Given the description of an element on the screen output the (x, y) to click on. 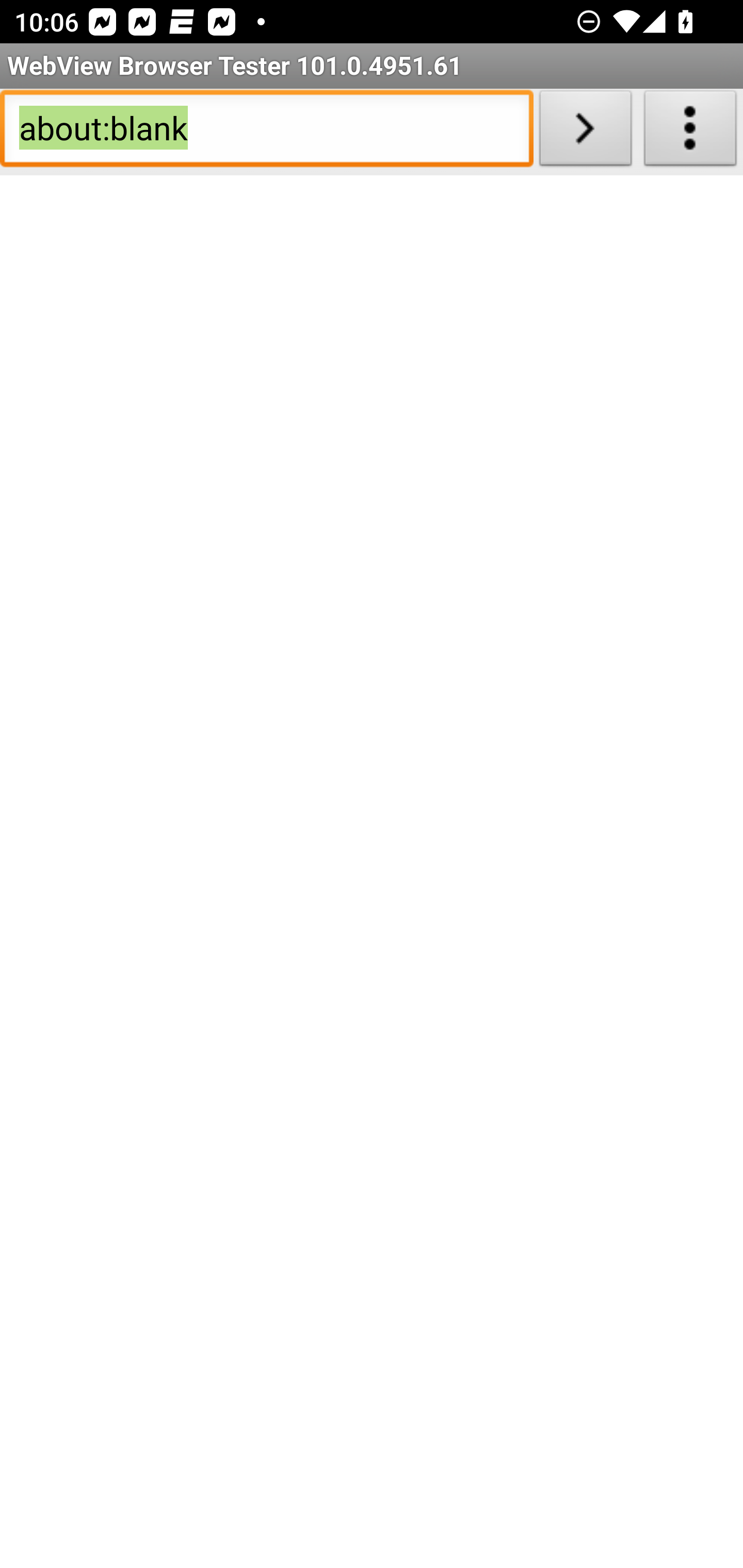
about:blank (266, 132)
Load URL (585, 132)
About WebView (690, 132)
